Given the description of an element on the screen output the (x, y) to click on. 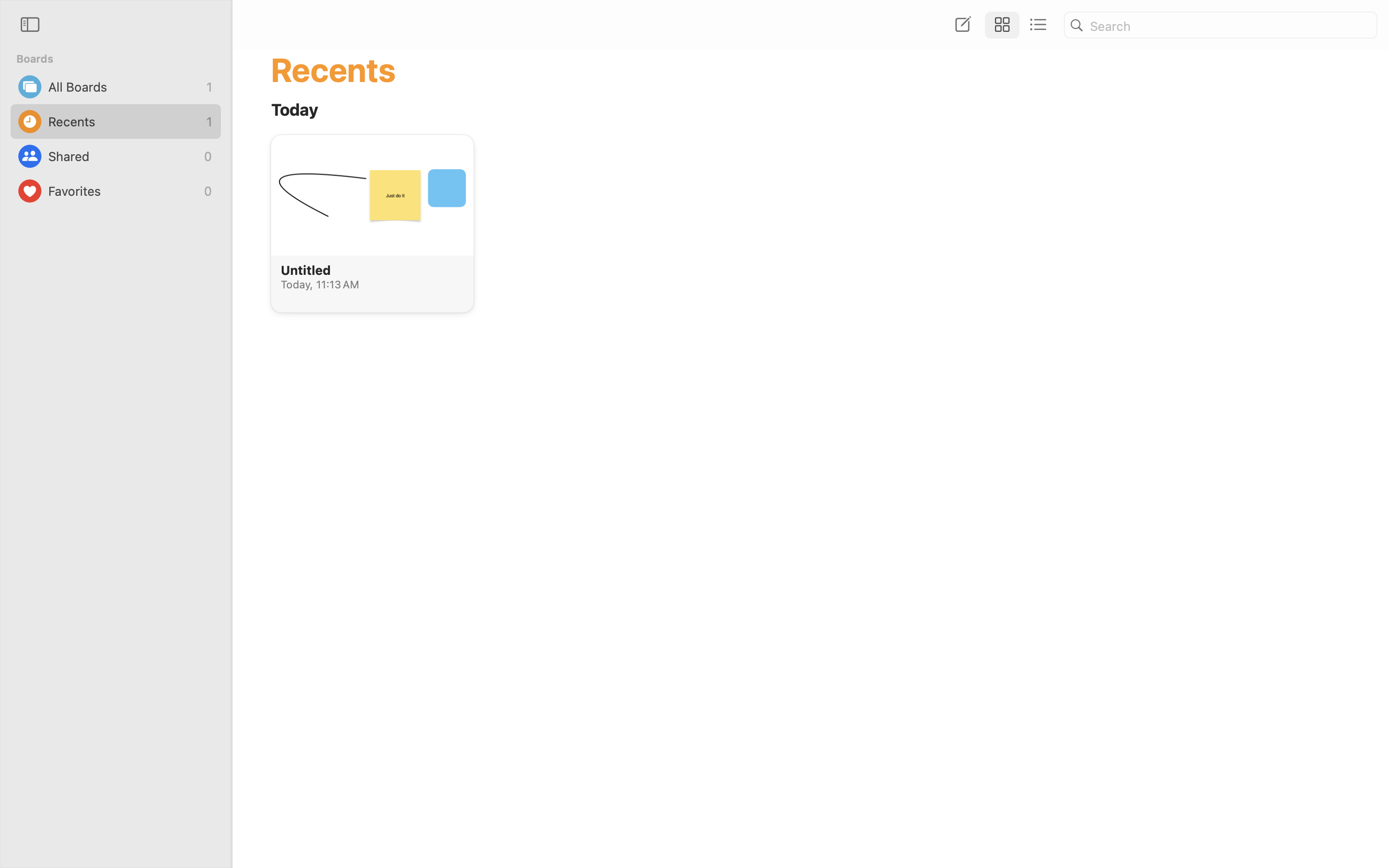
Favorites Element type: AXStaticText (123, 190)
Boards Element type: AXStaticText (121, 58)
Recents Element type: AXStaticText (124, 121)
